Given the description of an element on the screen output the (x, y) to click on. 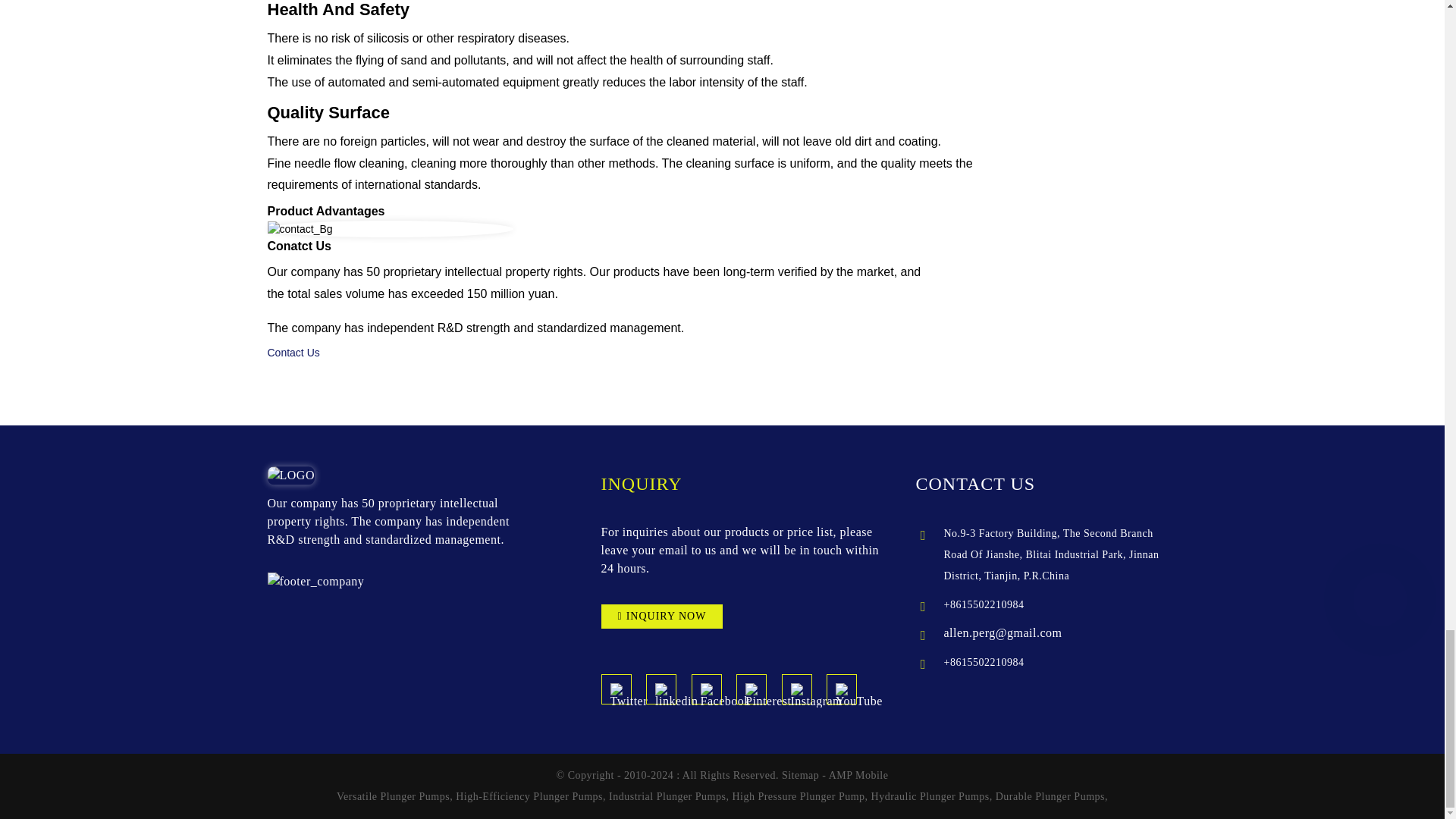
Versatile Plunger Pumps (392, 796)
High Pressure Plunger Pump (798, 796)
Hydraulic Plunger Pumps (930, 796)
Durable Plunger Pumps (1050, 796)
Industrial Plunger Pumps (666, 796)
High-Efficiency Plunger Pumps (528, 796)
